Given the description of an element on the screen output the (x, y) to click on. 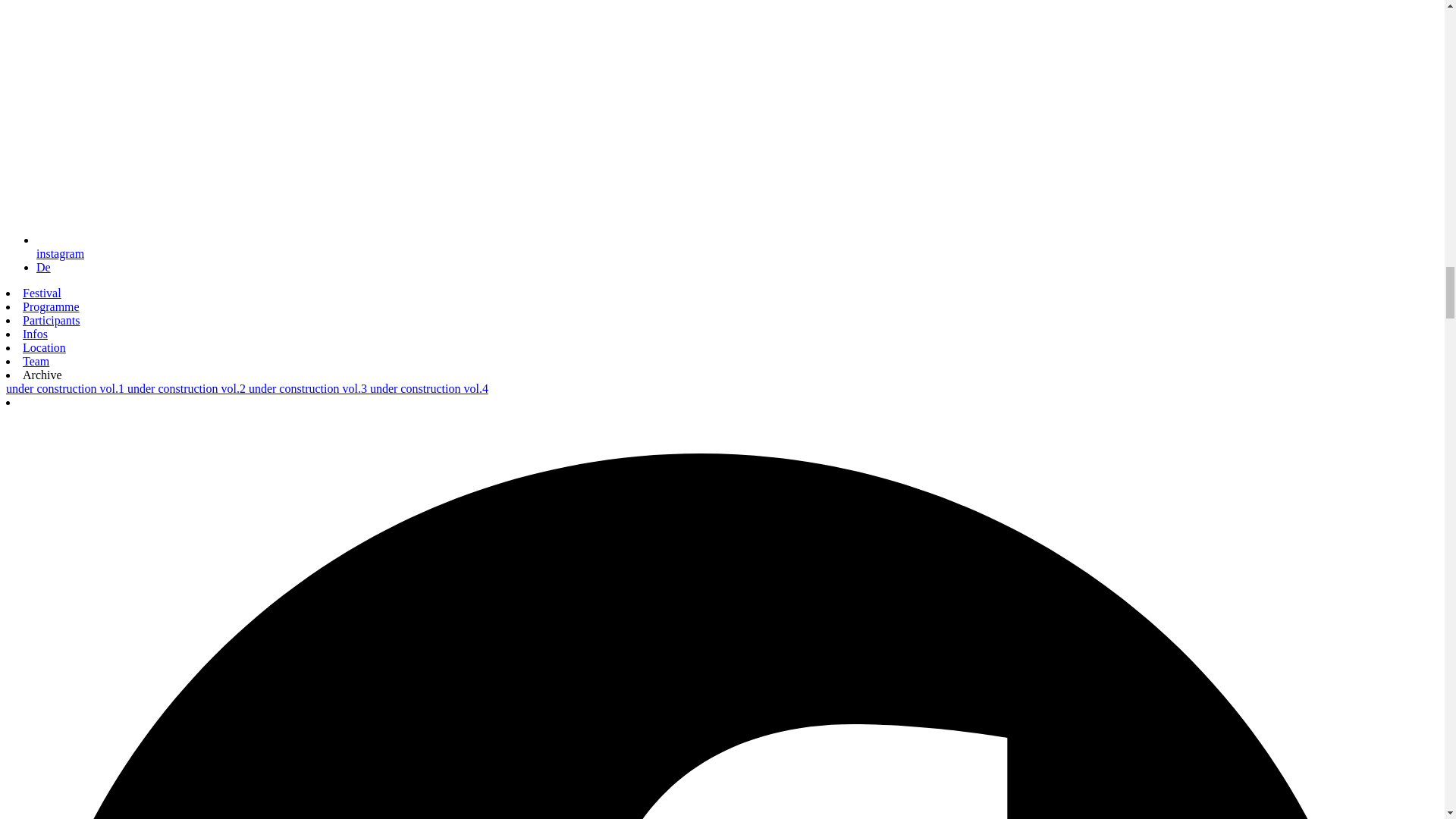
Participants (51, 319)
Location (44, 347)
under construction vol.1 (66, 388)
Team (36, 360)
Infos (35, 333)
under construction vol.3 (308, 388)
De (43, 267)
under construction vol.2 (188, 388)
under construction vol.4 (428, 388)
Festival (42, 292)
Programme (51, 306)
